Given the description of an element on the screen output the (x, y) to click on. 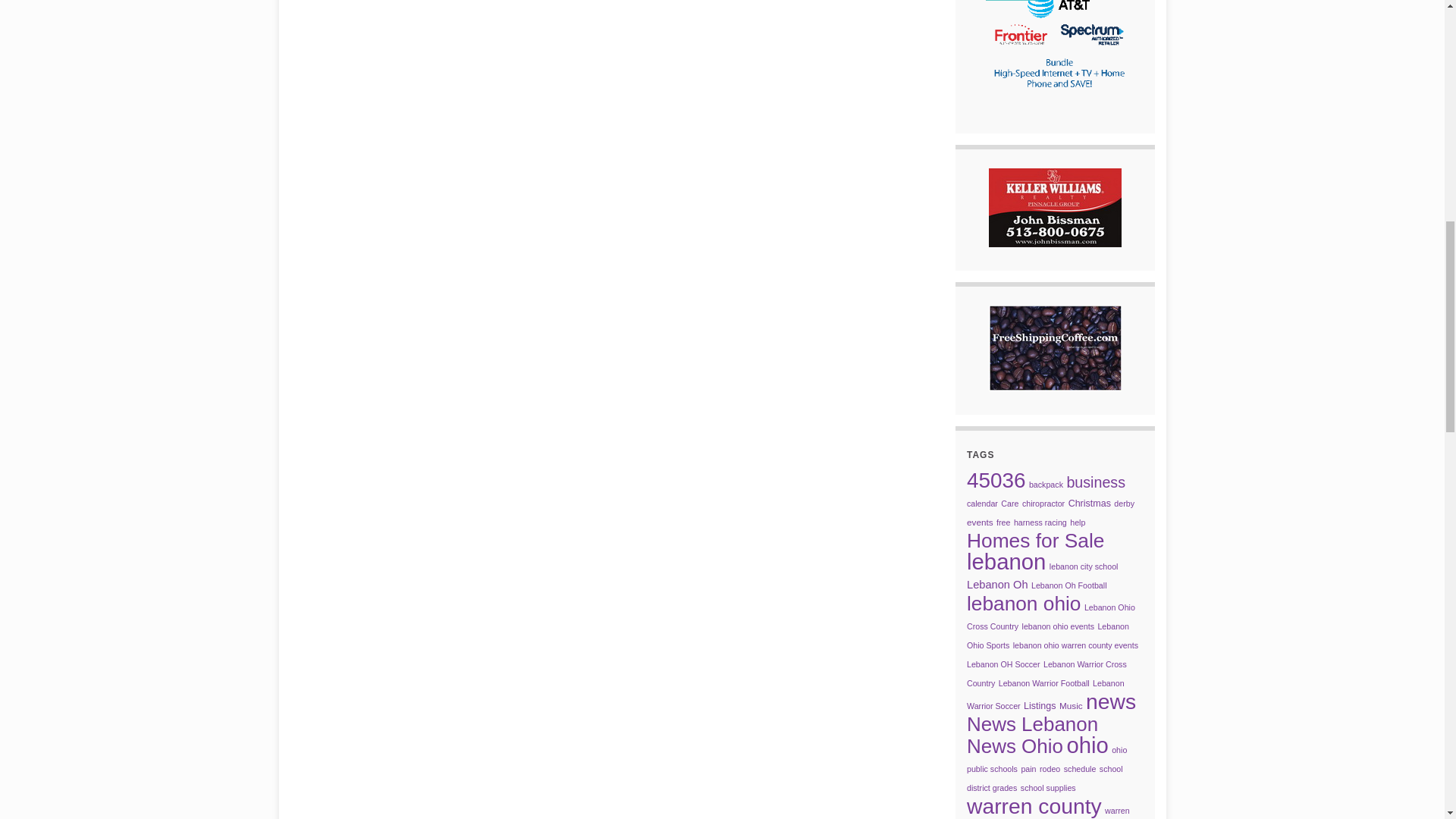
45036 (995, 480)
